Given the description of an element on the screen output the (x, y) to click on. 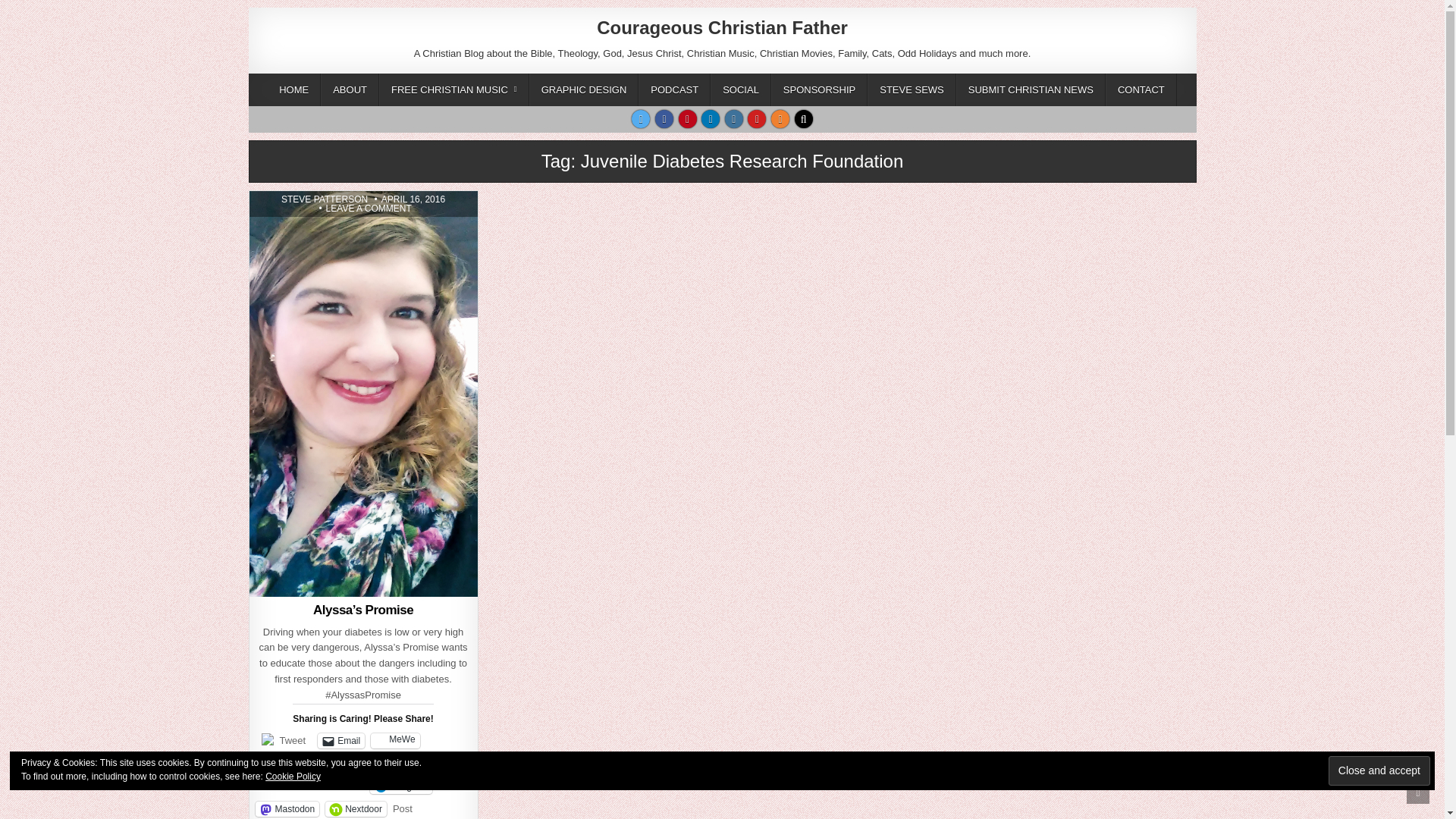
CONTACT (1140, 89)
Close and accept (324, 198)
GRAPHIC DESIGN (1378, 770)
SPONSORSHIP (584, 89)
Telegram (819, 89)
Share on Tumblr (399, 785)
Click to share on WhatsApp (290, 785)
MeWe (336, 763)
Click to share on MeWe (395, 740)
